Given the description of an element on the screen output the (x, y) to click on. 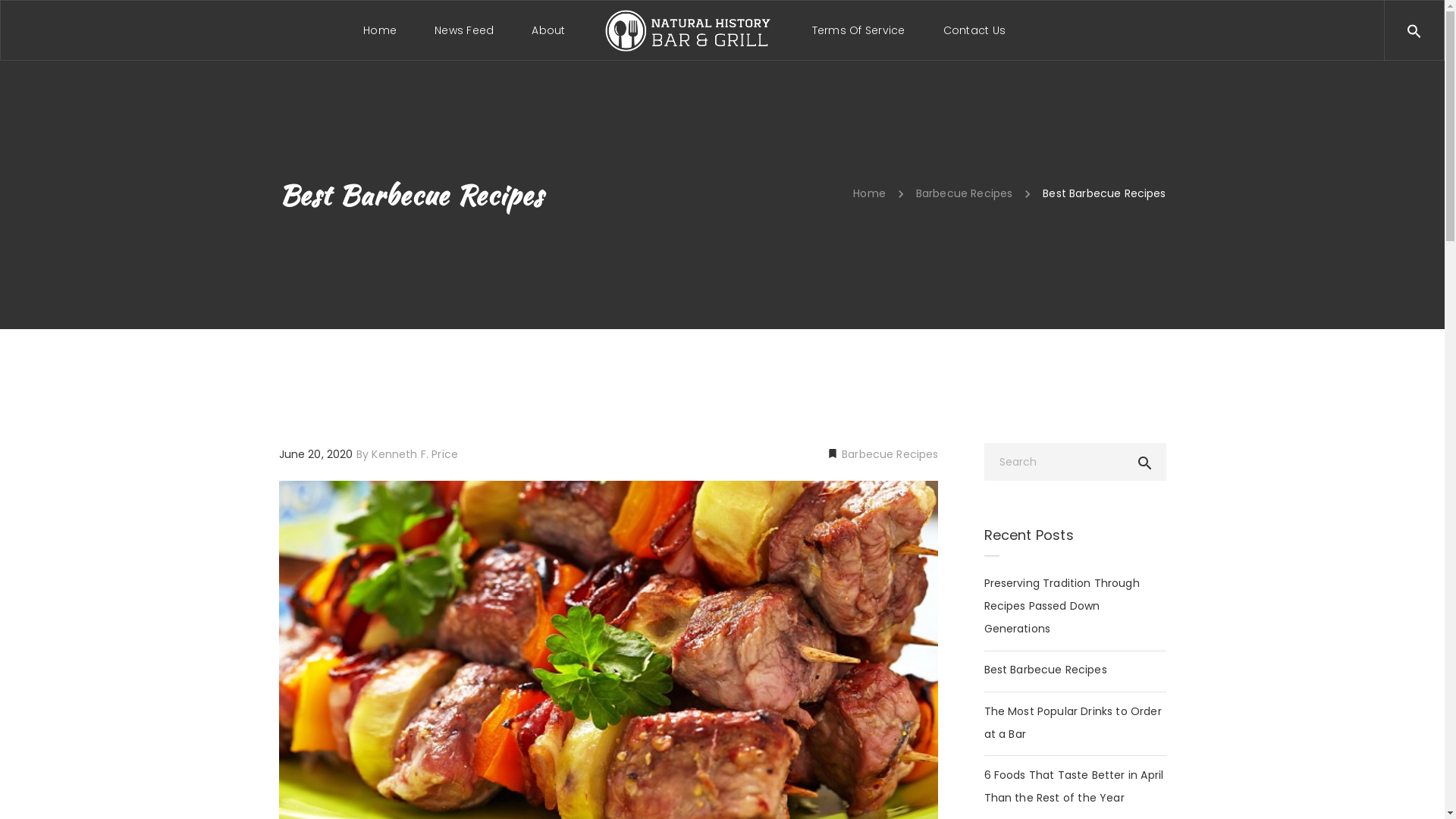
The Most Popular Drinks to Order at a Bar Element type: text (1075, 722)
About Element type: text (547, 29)
June 20, 2020 Element type: text (317, 453)
Search Element type: text (1442, 28)
Barbecue Recipes Element type: text (888, 453)
Barbecue Recipes Element type: text (964, 192)
Preserving Tradition Through Recipes Passed Down Generations Element type: text (1075, 605)
Contact Us Element type: text (973, 29)
Best Barbecue Recipes Element type: text (1045, 669)
News Feed Element type: text (463, 29)
Home Element type: text (869, 192)
6 Foods That Taste Better in April Than the Rest of the Year Element type: text (1075, 786)
Home Element type: text (379, 29)
Terms Of Service Element type: text (858, 29)
Kenneth F. Price Element type: text (414, 453)
